Given the description of an element on the screen output the (x, y) to click on. 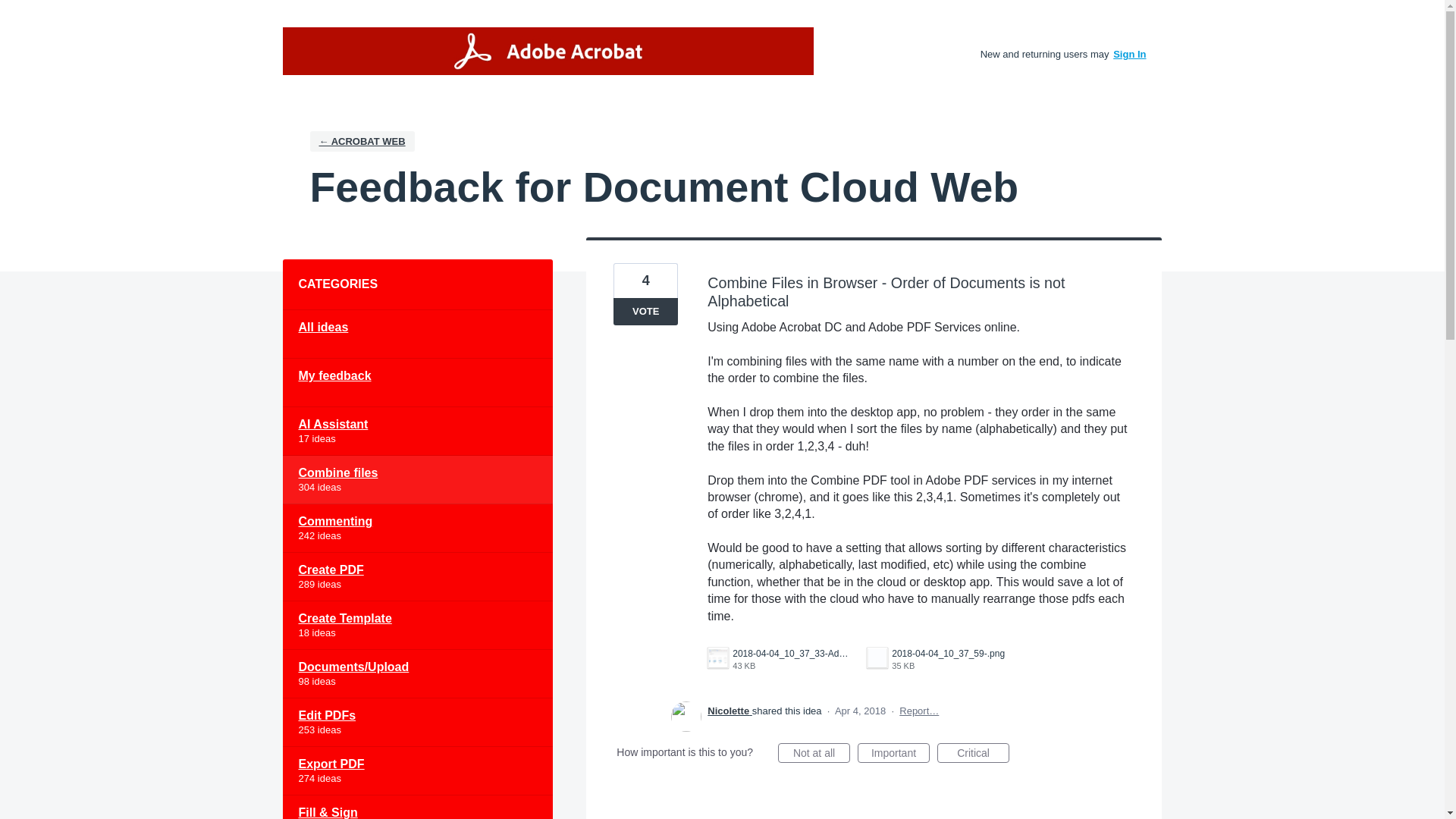
AI Assistant (417, 431)
View all ideas in category Export PDF (417, 770)
View all ideas in category Create Template (417, 625)
View all ideas in category Commenting (417, 528)
Skip to content (12, 12)
Export PDF (417, 770)
Combine files (417, 479)
Share your feedback on Acrobat DC (547, 51)
All ideas (417, 334)
Create Template (417, 625)
